Given the description of an element on the screen output the (x, y) to click on. 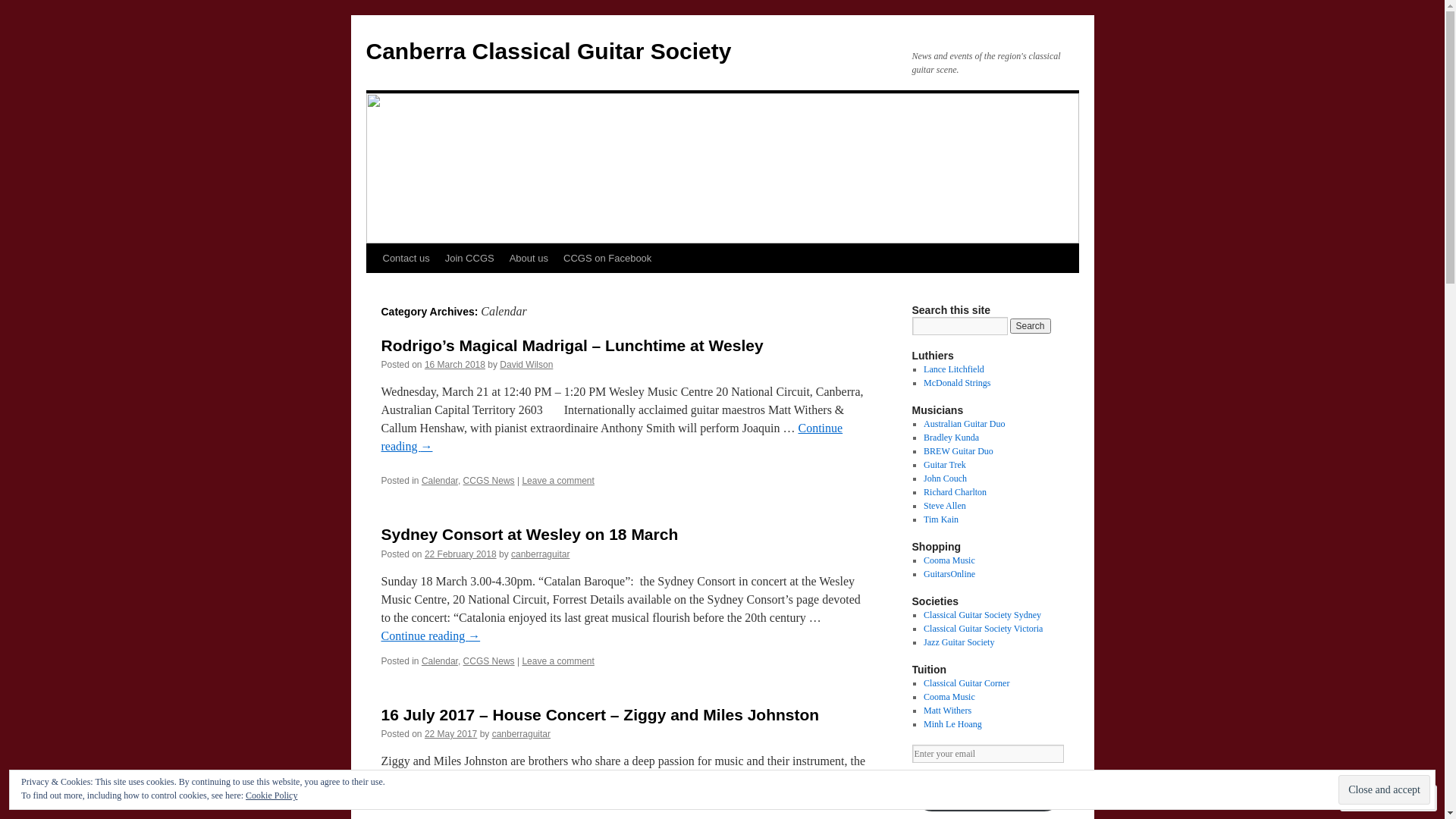
CCGS on Facebook Element type: text (606, 258)
Calendar Element type: text (439, 480)
Matt Withers Element type: text (947, 710)
David Wilson Element type: text (525, 364)
22 May 2017 Element type: text (450, 733)
Canberra Classical Guitar Society Element type: text (548, 50)
Join CCGS Element type: text (469, 258)
CCGS News Element type: text (488, 480)
Follow Element type: text (1374, 797)
GuitarsOnline Element type: text (949, 573)
Cookie Policy Element type: text (271, 795)
22 February 2018 Element type: text (460, 554)
Jazz Guitar Society Element type: text (958, 642)
Classical Guitar Society Victoria Element type: text (982, 628)
canberraguitar Element type: text (521, 733)
Leave a comment Element type: text (557, 480)
McDonald Strings Element type: text (956, 382)
16 March 2018 Element type: text (454, 364)
About us Element type: text (528, 258)
BREW Guitar Duo Element type: text (958, 450)
Tim Kain Element type: text (940, 519)
Richard Charlton Element type: text (954, 491)
Cooma Music Element type: text (949, 696)
Cooma Music Element type: text (949, 560)
Classical Guitar Society Sydney Element type: text (982, 614)
Search Element type: text (1030, 325)
Calendar Element type: text (439, 660)
Guitar Trek Element type: text (944, 464)
Lance Litchfield Element type: text (953, 369)
Enter your email Element type: hover (987, 753)
Sydney Consort at Wesley on 18 March Element type: text (528, 533)
Classical Guitar Corner Element type: text (966, 682)
John Couch Element type: text (944, 478)
Australian Guitar Duo Element type: text (963, 423)
Steve Allen Element type: text (944, 505)
Leave a comment Element type: text (557, 660)
Minh Le Hoang Element type: text (952, 723)
Bradley Kunda Element type: text (951, 437)
Close and accept Element type: text (1384, 789)
Guitar Society Newsletter Signup Element type: text (987, 791)
CCGS News Element type: text (488, 660)
canberraguitar Element type: text (540, 554)
Contact us Element type: text (405, 258)
